Given the description of an element on the screen output the (x, y) to click on. 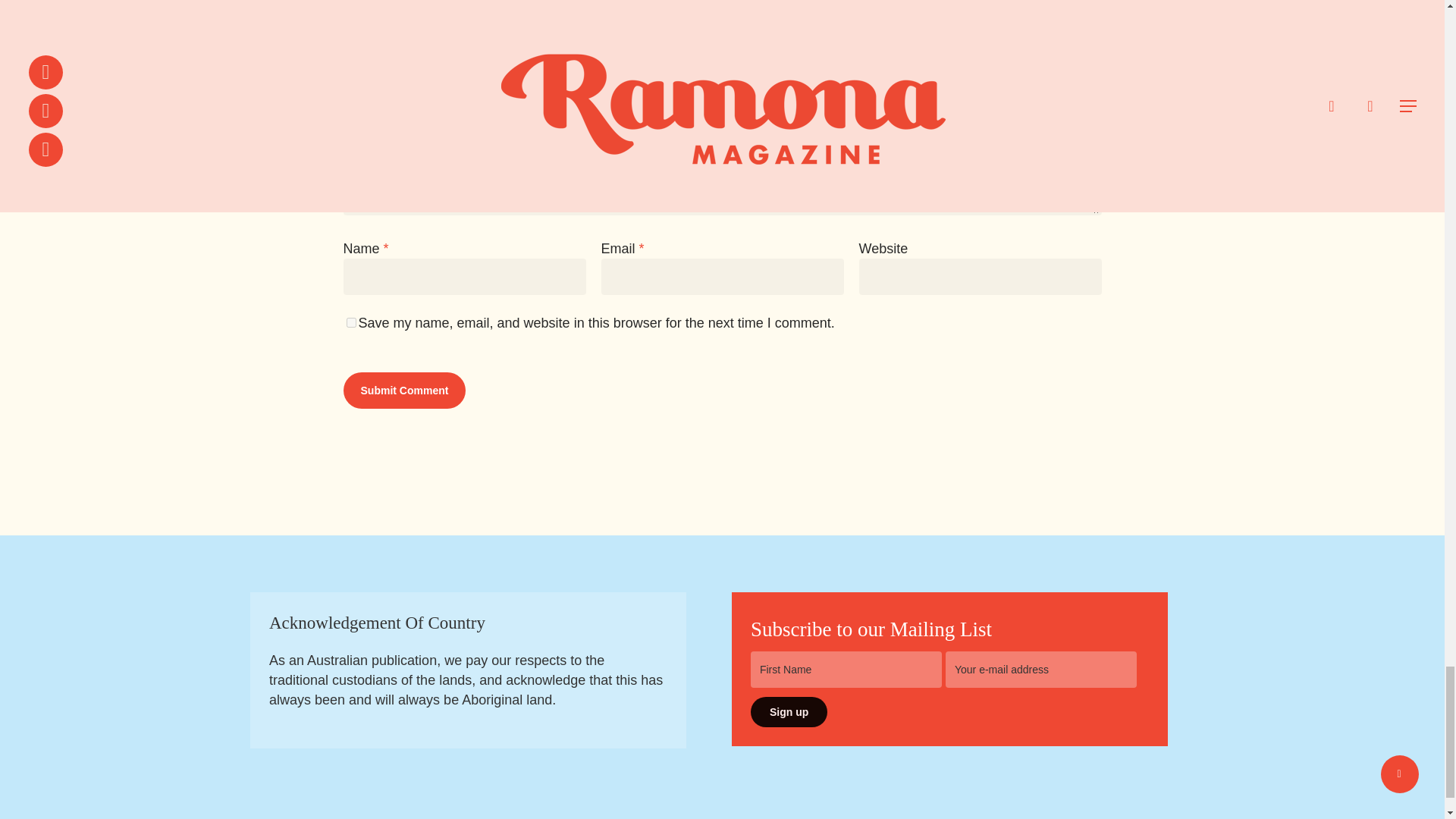
Submit Comment (403, 390)
yes (350, 322)
Sign up (789, 711)
